Given the description of an element on the screen output the (x, y) to click on. 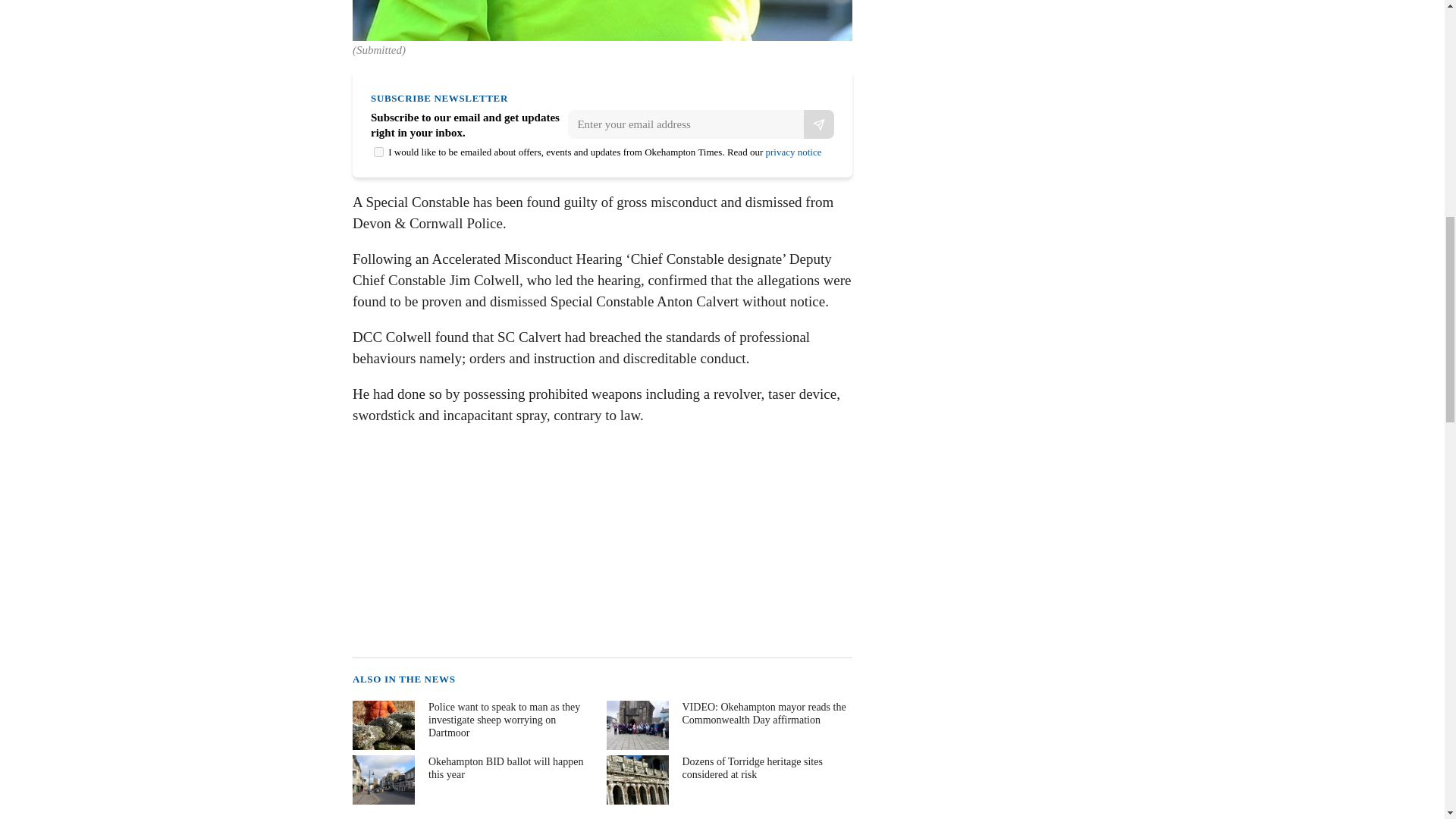
Okehampton BID ballot will happen this year (473, 779)
privacy notice (793, 152)
Dozens of Torridge heritage sites considered at risk (727, 779)
